Given the description of an element on the screen output the (x, y) to click on. 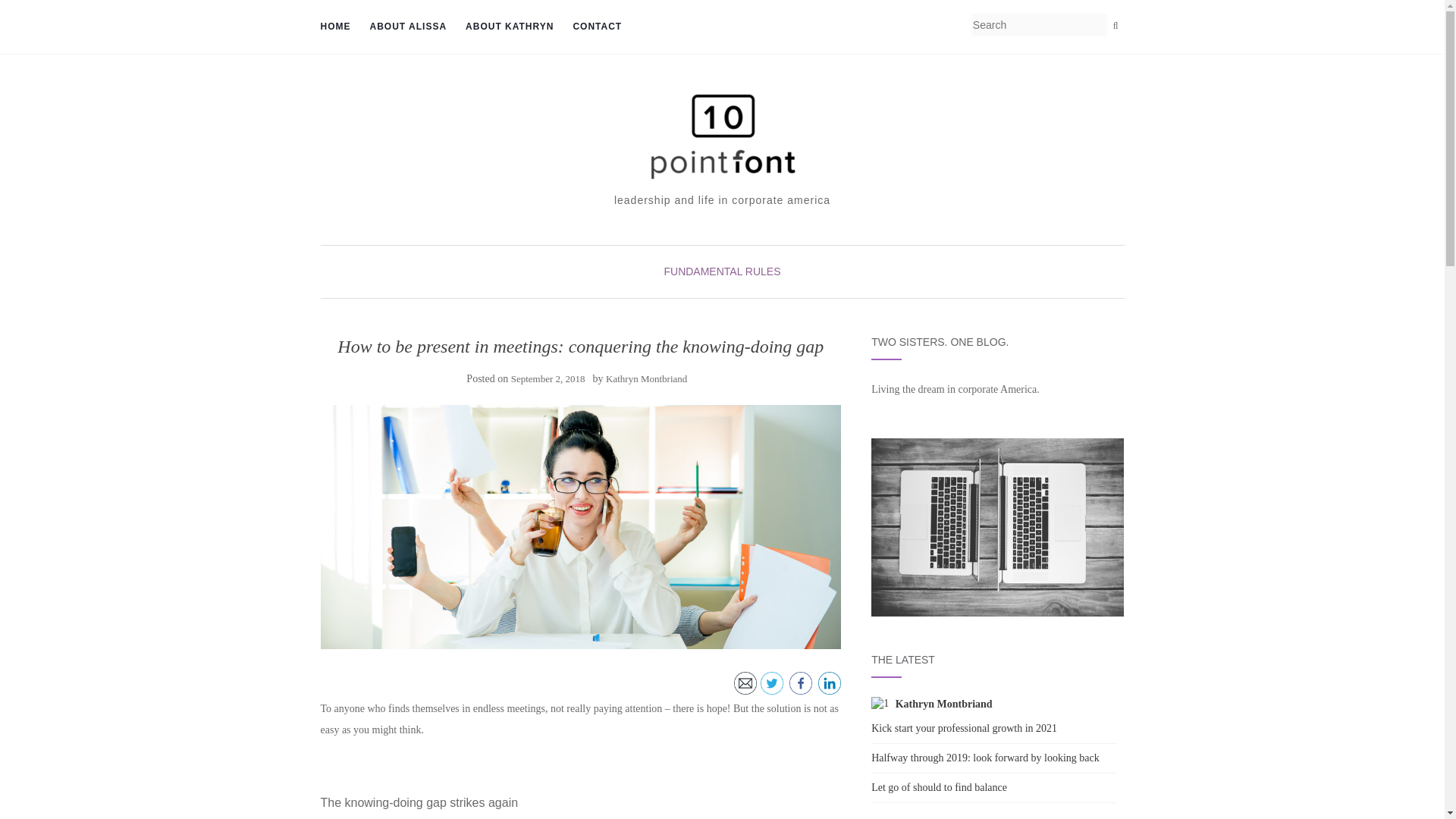
Kick start your professional growth in 2021 (963, 727)
FUNDAMENTAL RULES (721, 271)
Halfway through 2019: look forward by looking back (984, 757)
Facebook (800, 682)
Twitter (771, 682)
Kick start your professional growth in 2021 (963, 727)
September 2, 2018 (548, 378)
Kathryn Montbriand (646, 378)
ABOUT KATHRYN (509, 27)
Contact (596, 27)
About Kathryn (509, 27)
CONTACT (596, 27)
Email (745, 682)
About Alissa (407, 27)
